Given the description of an element on the screen output the (x, y) to click on. 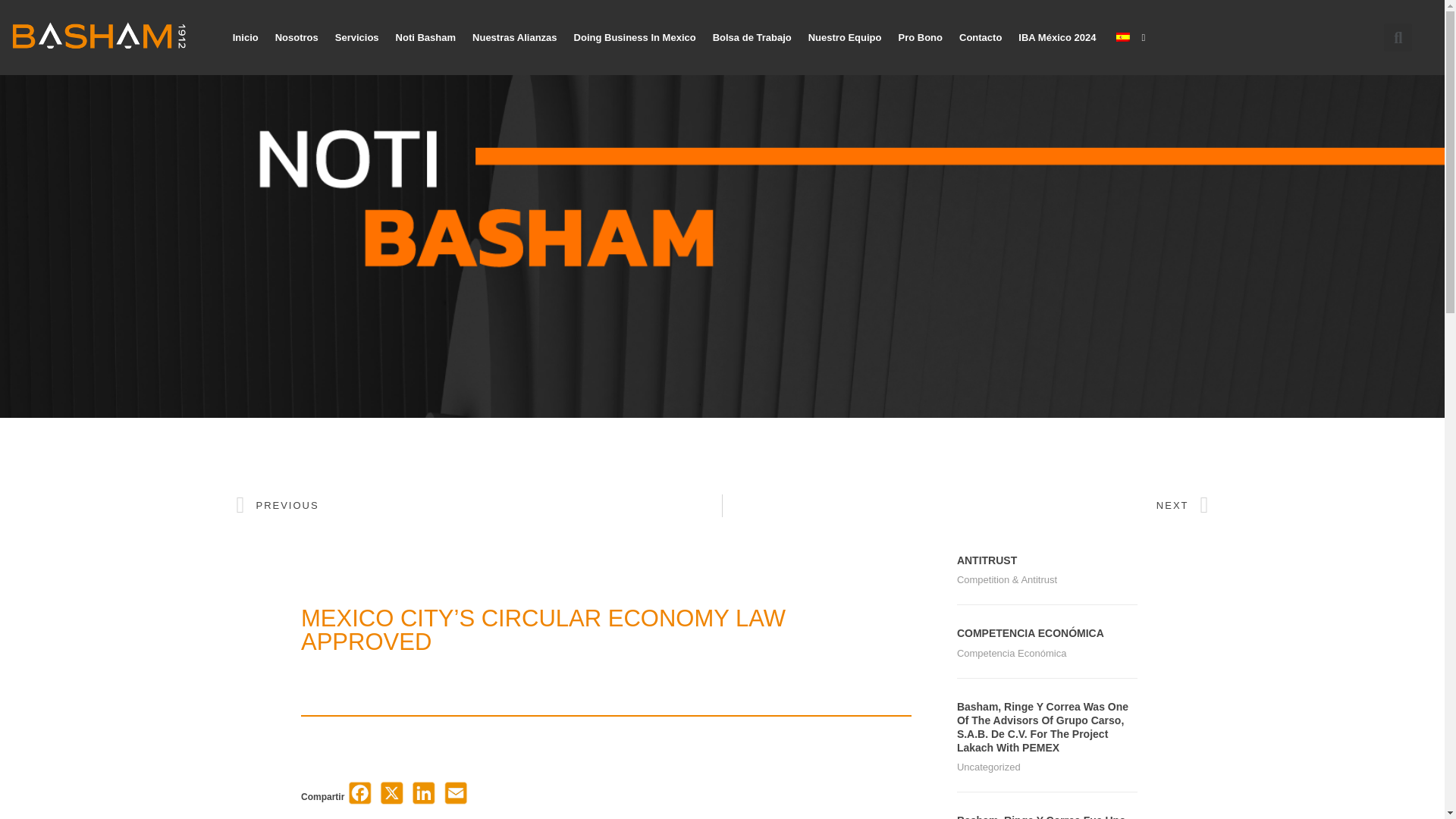
PREVIOUS (478, 505)
Facebook (359, 797)
Bolsa de Trabajo (751, 37)
ANTITRUST (986, 560)
Servicios (356, 37)
Doing Business In Mexico (635, 37)
Spanish (1122, 36)
Inicio (245, 37)
Noti Basham (425, 37)
X (391, 797)
Email (455, 797)
Nuestras Alianzas (515, 37)
ANTITRUST (986, 560)
Nuestro Equipo (844, 37)
